Given the description of an element on the screen output the (x, y) to click on. 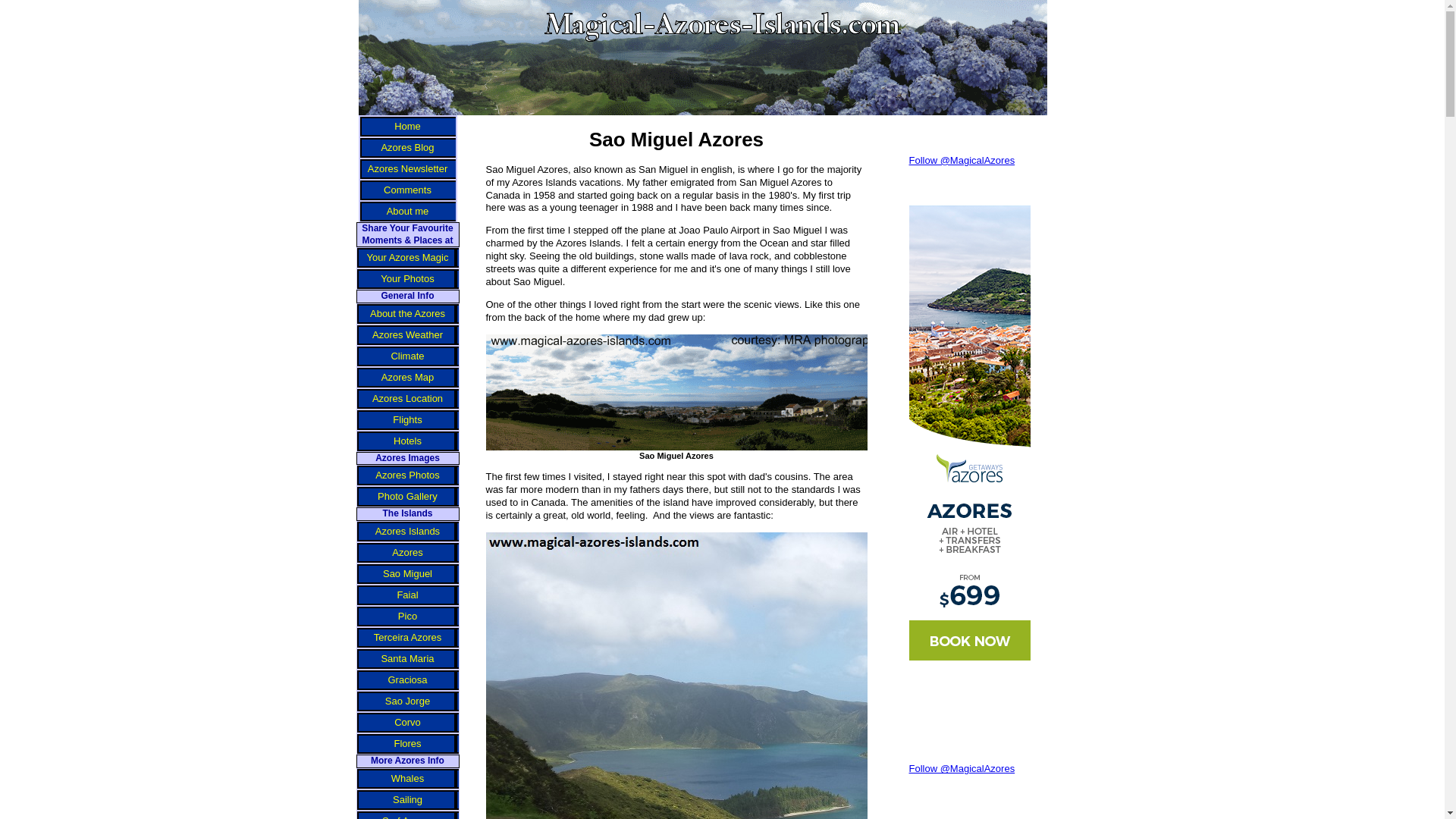
Sao Miguel Azores (693, 392)
